Given the description of an element on the screen output the (x, y) to click on. 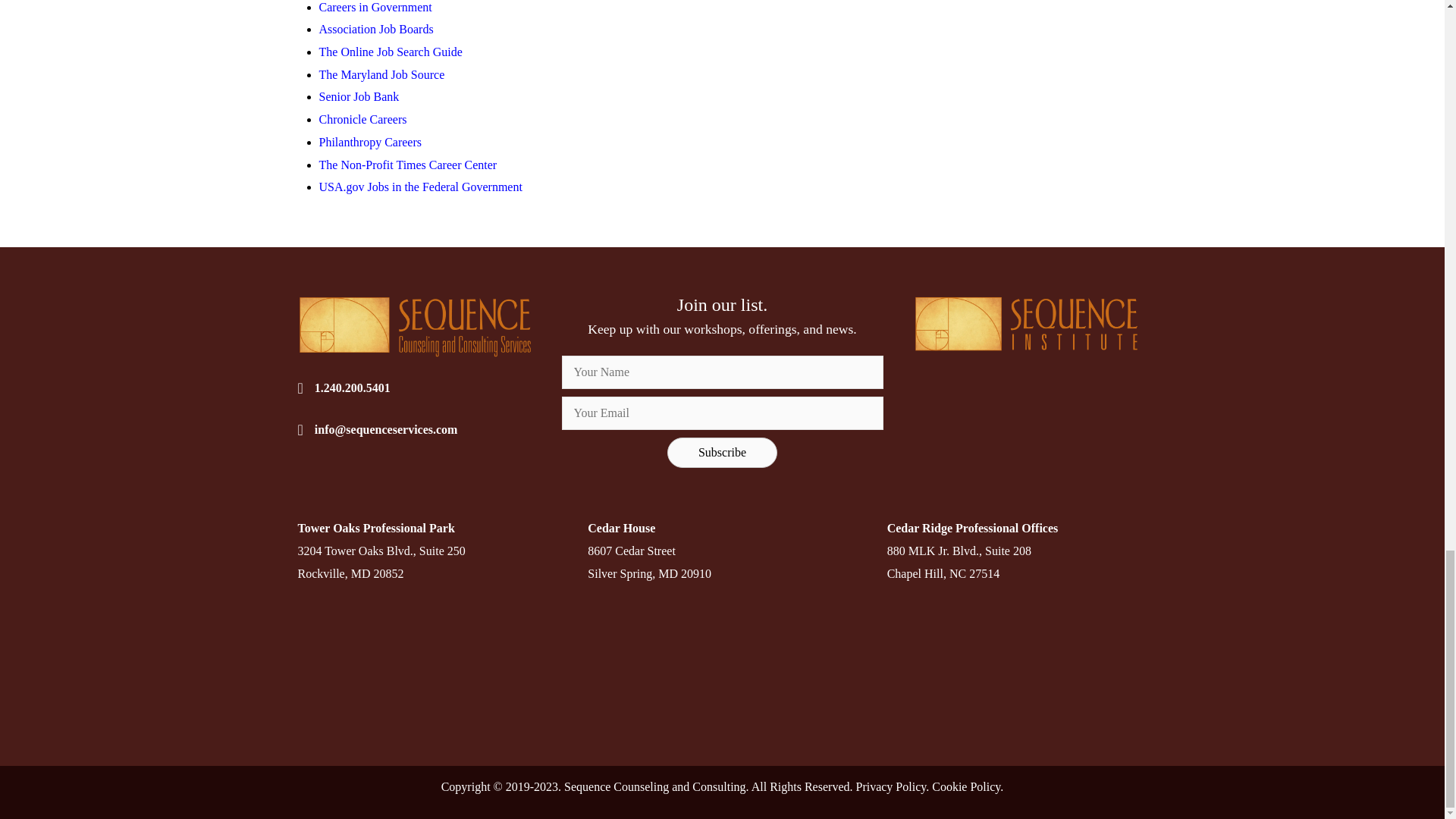
SequenceInstitute (1029, 324)
SequenceLogo (414, 325)
Click Here (721, 452)
Privacy Policy  (891, 786)
